Given the description of an element on the screen output the (x, y) to click on. 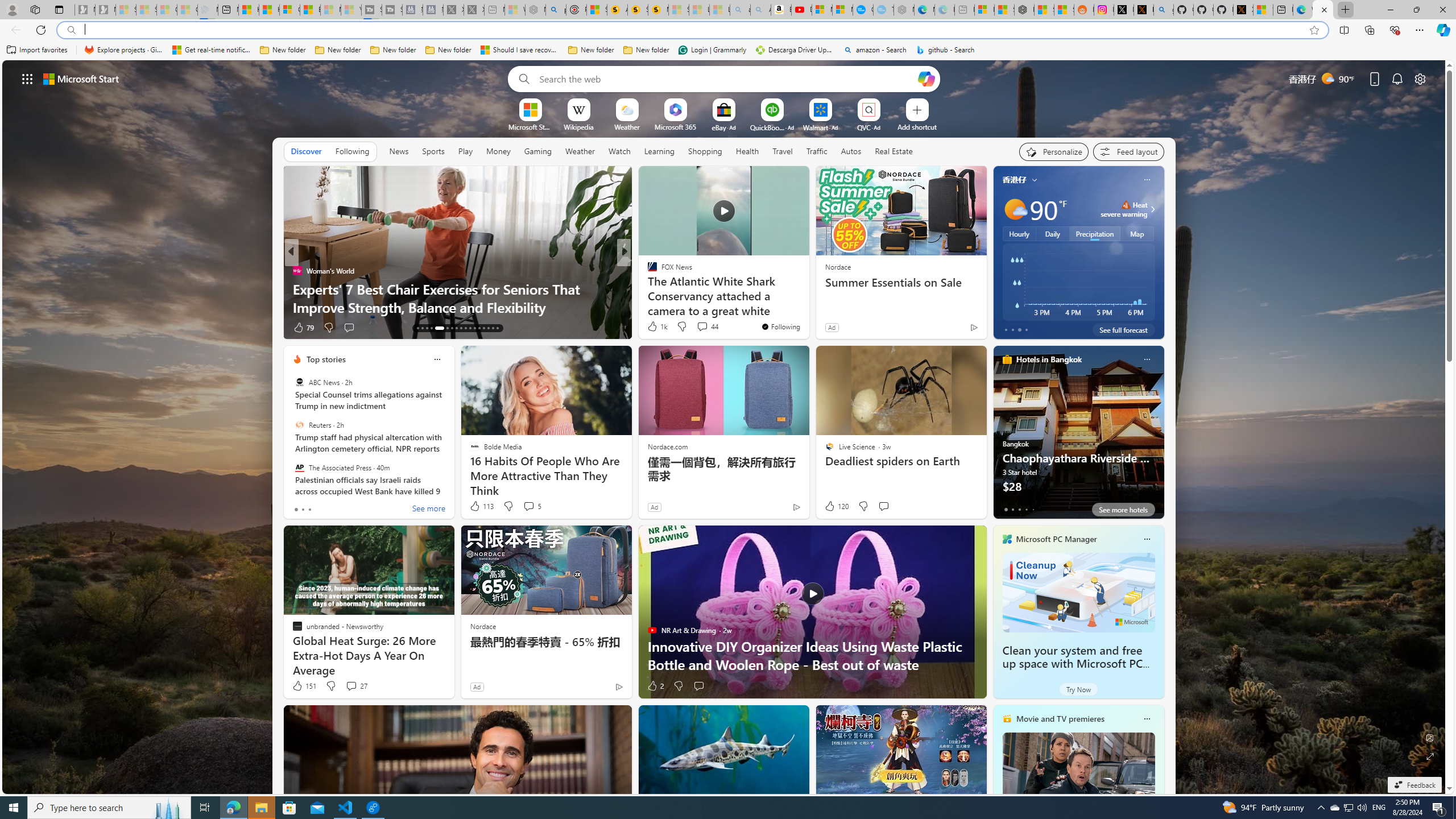
Close tab (1324, 9)
Shopping (705, 151)
tab-3 (1025, 509)
92 Like (652, 327)
Following (352, 151)
Autos (851, 151)
Collections (1369, 29)
AutomationID: tab-13 (417, 328)
View comments 3 Comment (702, 327)
Heat - Severe (1126, 204)
Autos (850, 151)
